Given the description of an element on the screen output the (x, y) to click on. 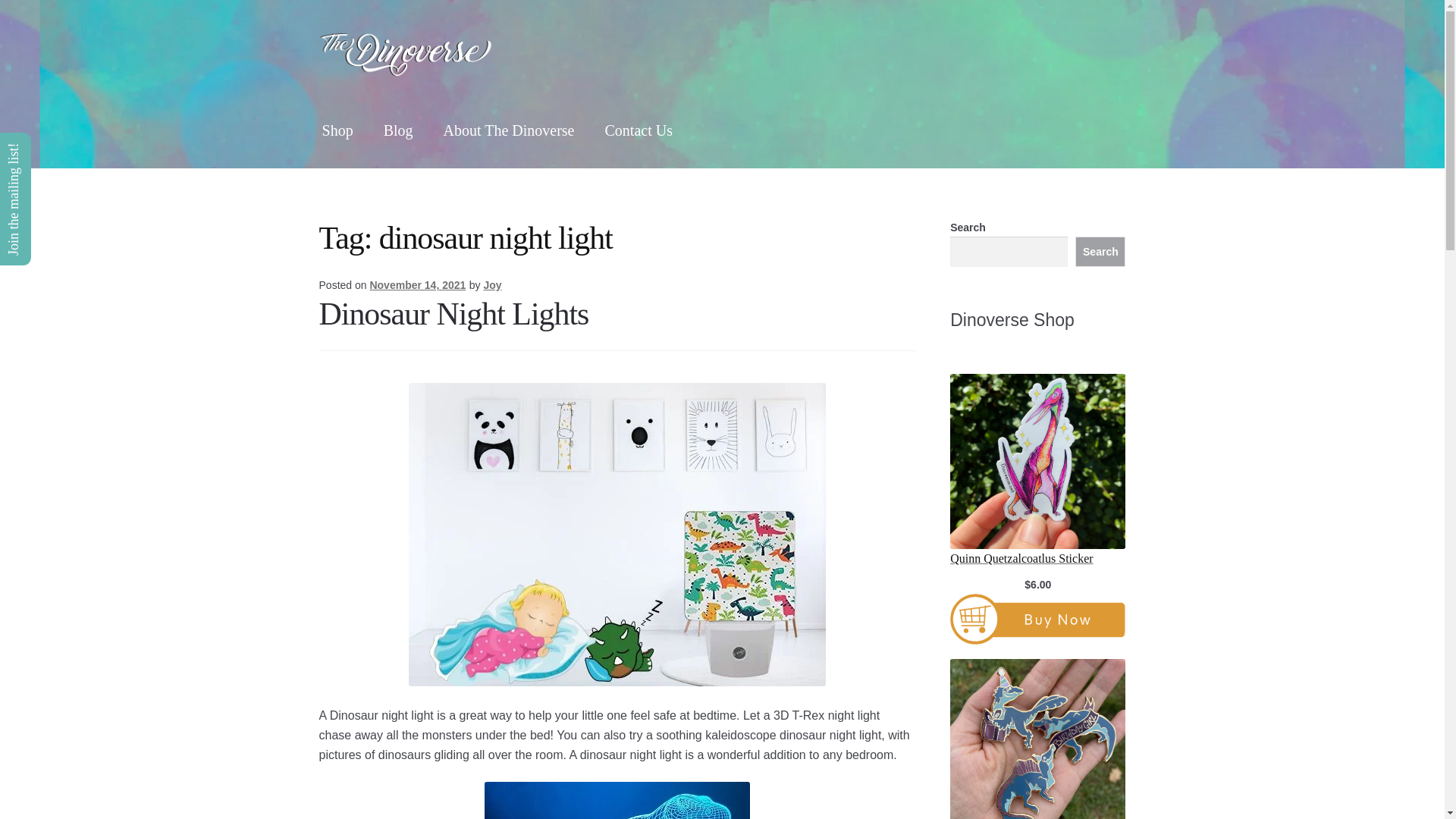
Search (1100, 251)
Joy (491, 285)
November 14, 2021 (417, 285)
Dinosaur Night Lights (453, 313)
About The Dinoverse (508, 130)
Quinn Quetzalcoatlus Sticker (1037, 558)
Contact Us (638, 130)
